Given the description of an element on the screen output the (x, y) to click on. 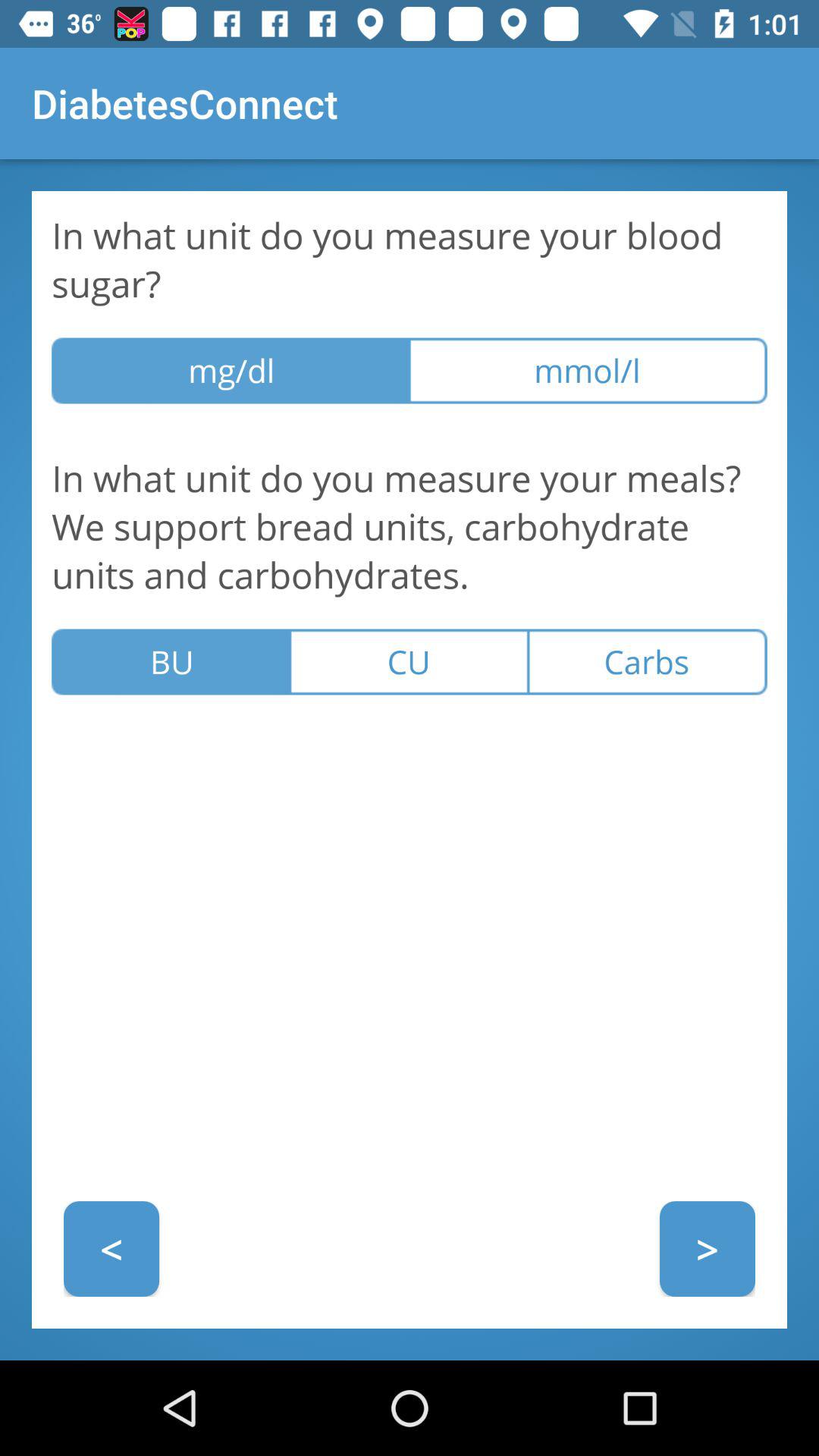
turn off item next to the > (111, 1248)
